Given the description of an element on the screen output the (x, y) to click on. 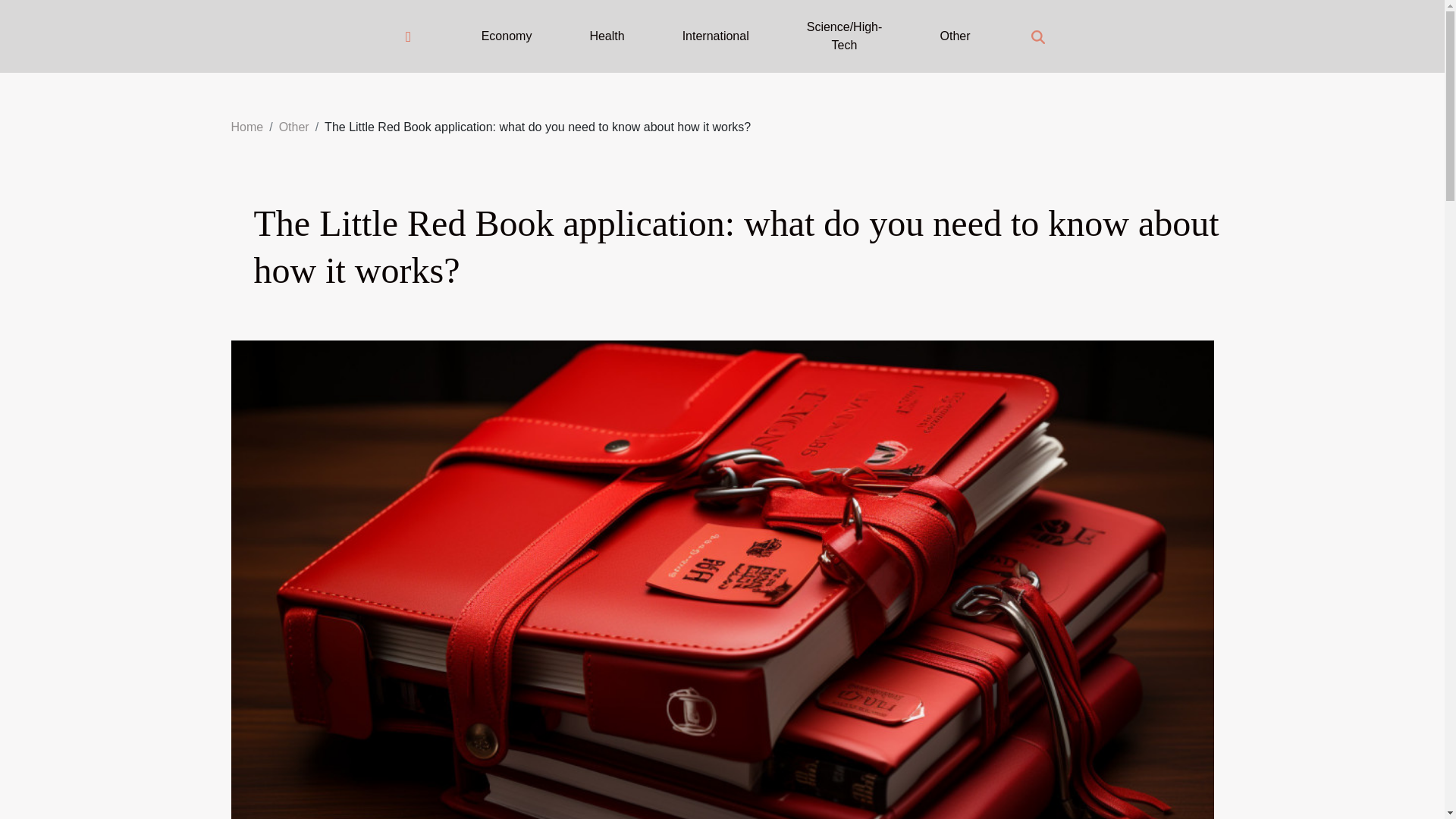
Home (246, 126)
Other (293, 126)
Economy (507, 36)
Other (293, 126)
Other (954, 36)
Health (606, 36)
International (716, 36)
